Given the description of an element on the screen output the (x, y) to click on. 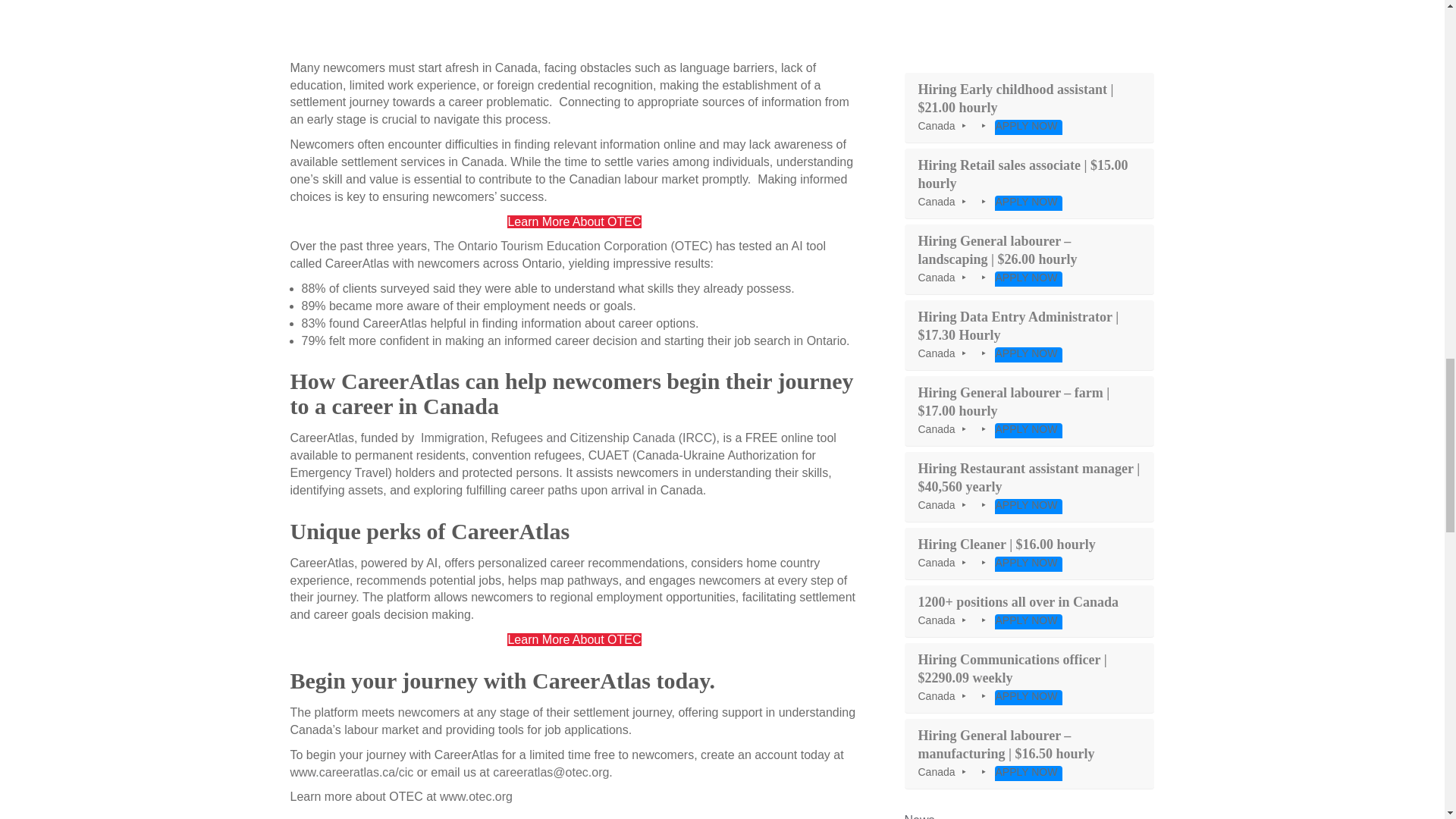
Learn More About OTEC (573, 639)
Learn More About OTEC (573, 221)
www.otec.org (475, 796)
